Given the description of an element on the screen output the (x, y) to click on. 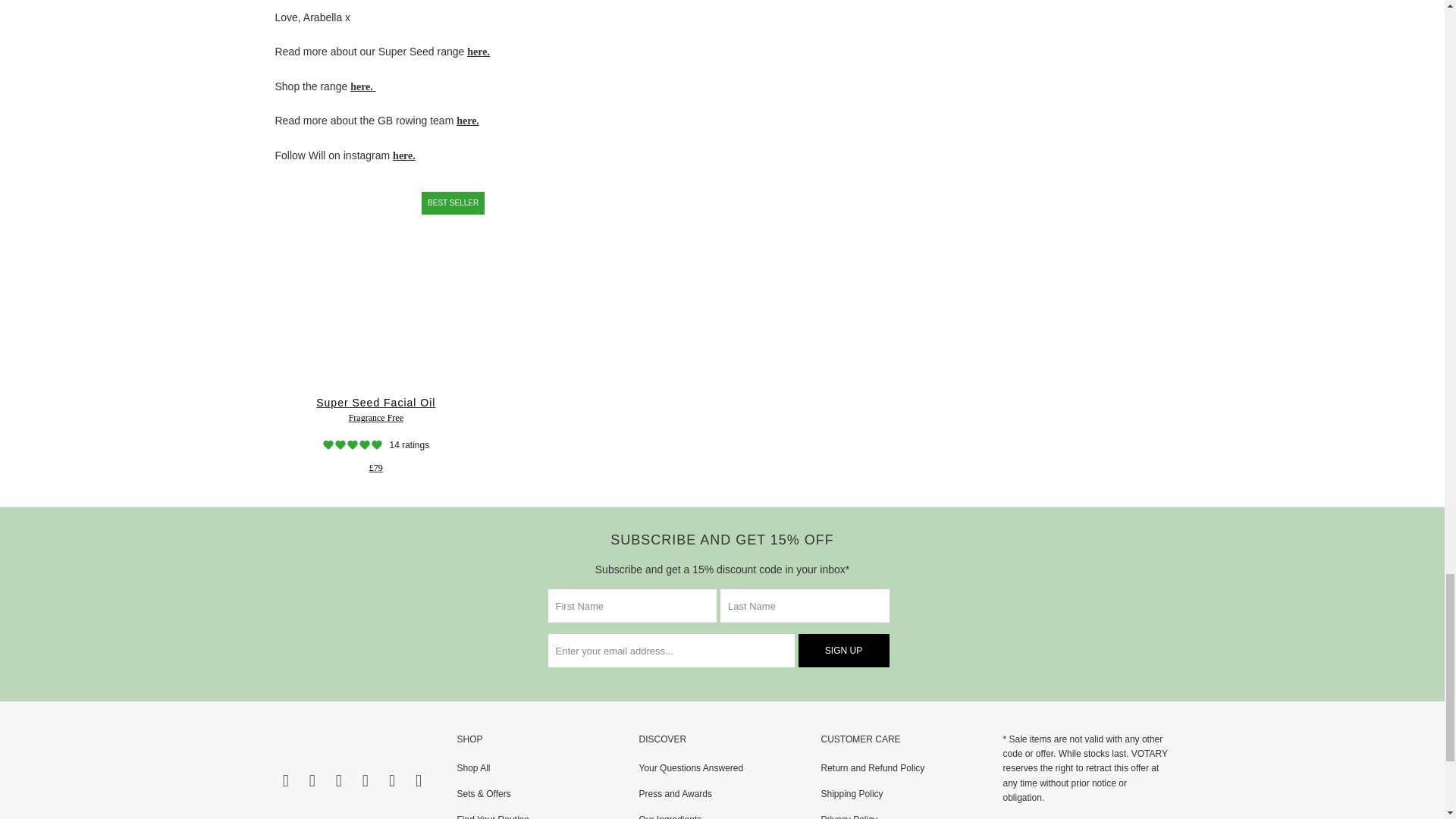
VOTARY on Instagram (312, 781)
VOTARY on Facebook (286, 781)
Sign Up (842, 650)
